Given the description of an element on the screen output the (x, y) to click on. 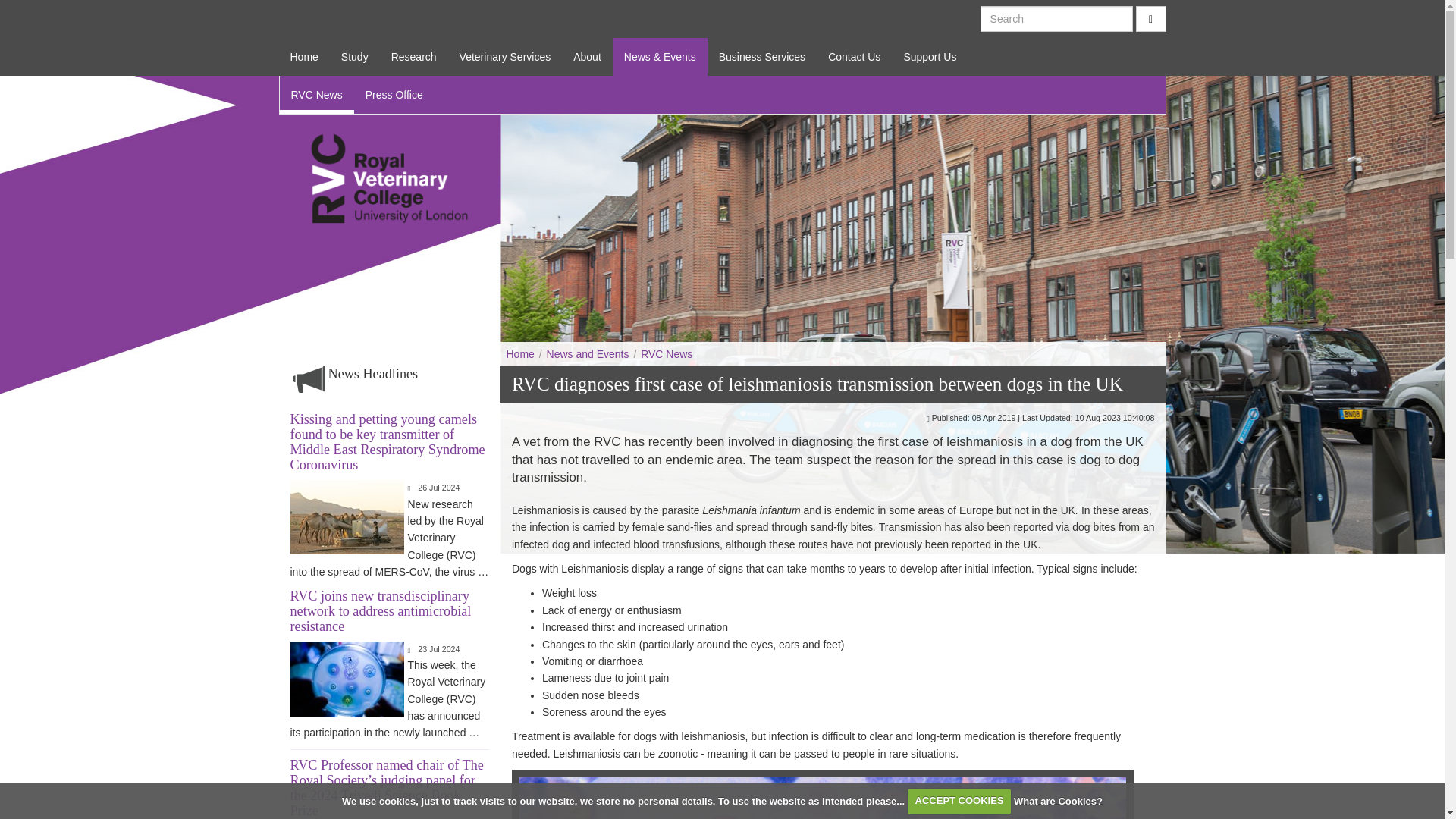
RVC News (666, 354)
Business Services (761, 56)
Home (520, 354)
Research (414, 56)
Veterinary Services (505, 56)
Home (304, 56)
Study (355, 56)
RVC News (316, 94)
News and Events (587, 354)
Contact Us (853, 56)
Press Office (393, 94)
Support Us (929, 56)
search (1150, 18)
